Given the description of an element on the screen output the (x, y) to click on. 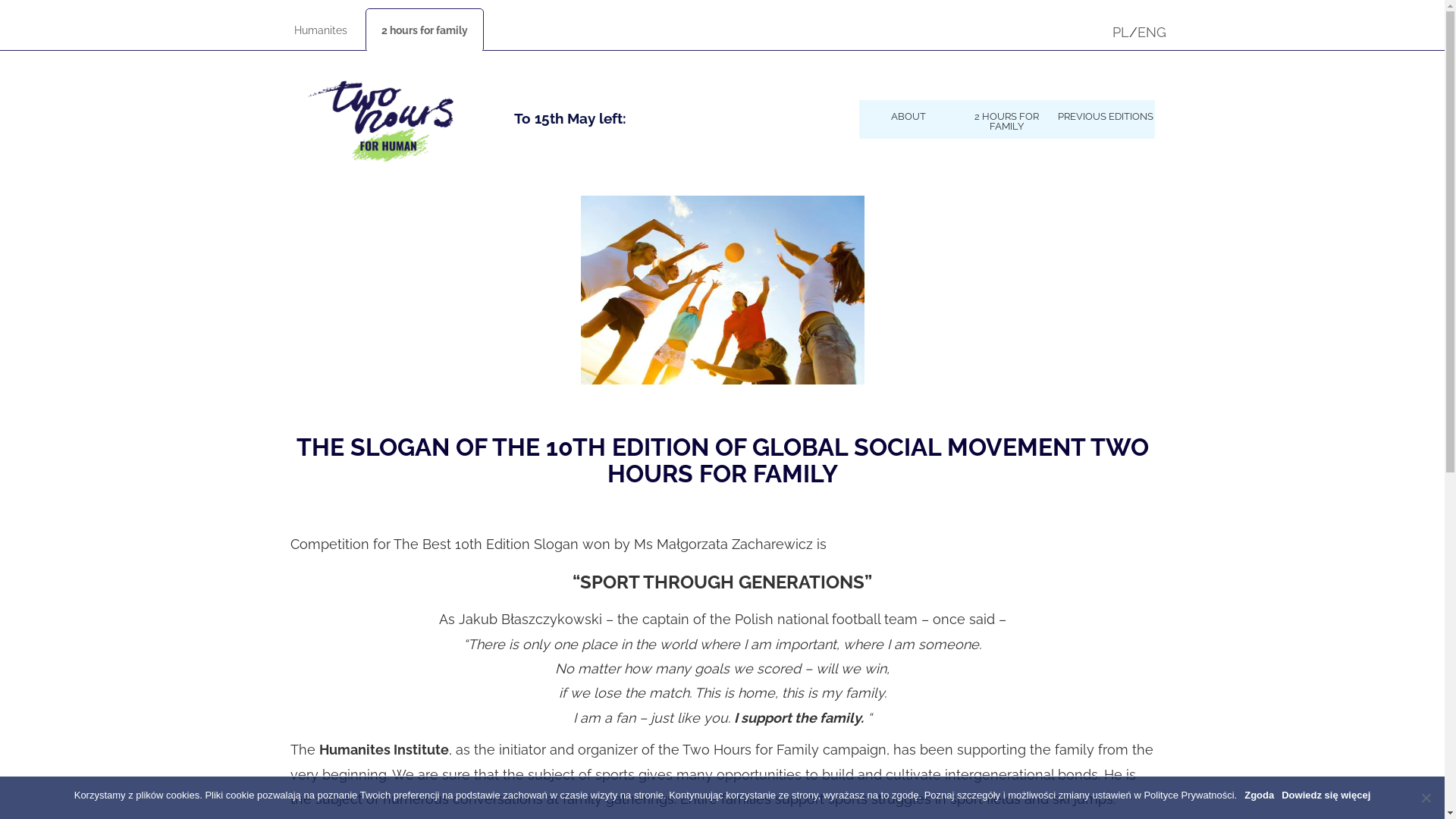
Humanites Element type: text (320, 30)
ENG Element type: text (1151, 32)
2 hours for family Element type: text (424, 30)
PREVIOUS EDITIONS Element type: text (1104, 114)
PL Element type: text (1119, 32)
Zgoda Element type: text (1259, 795)
ABOUT Element type: text (907, 114)
Humanites Institute Element type: text (383, 749)
2 HOURS FOR FAMILY Element type: text (1006, 119)
